Given the description of an element on the screen output the (x, y) to click on. 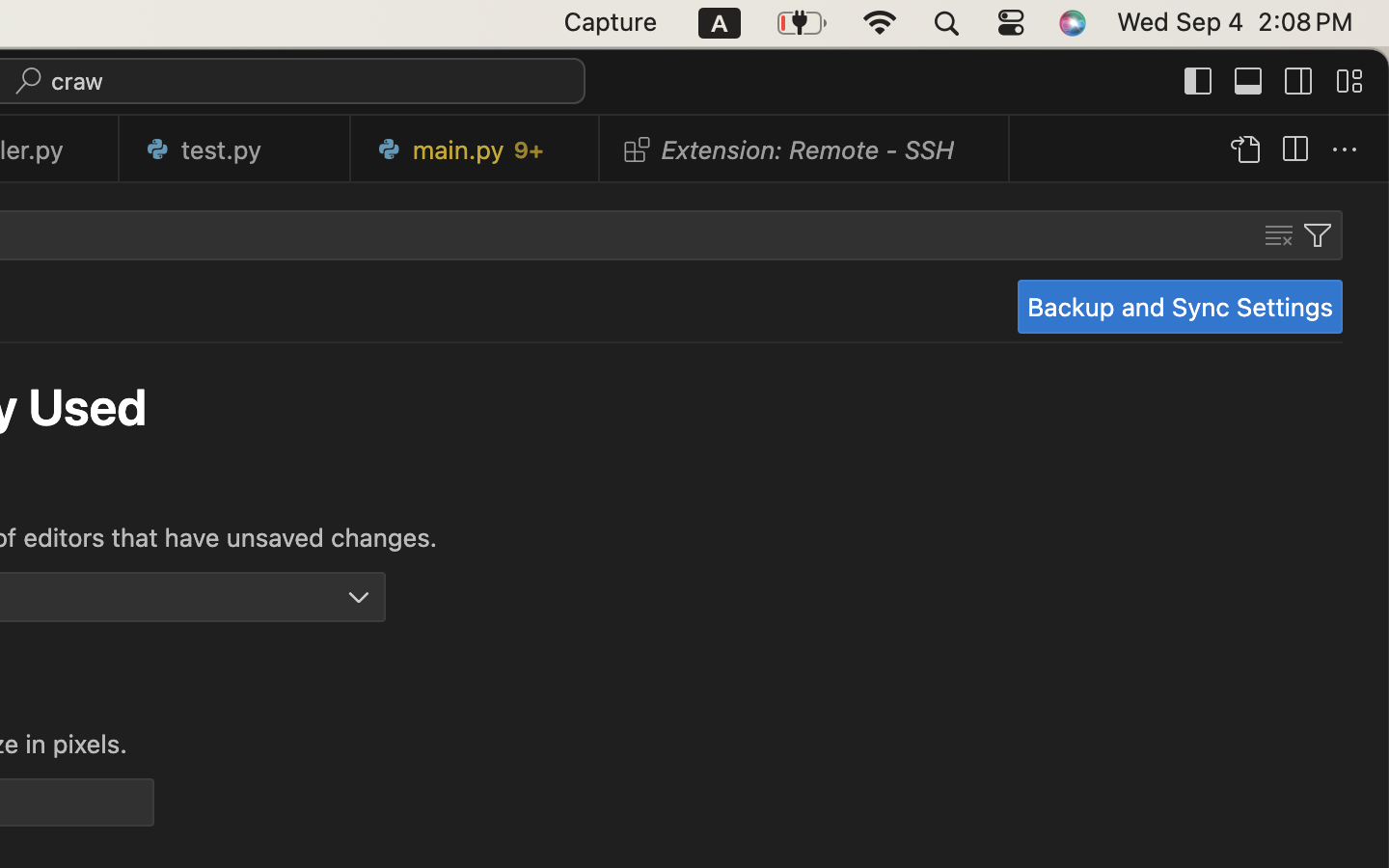
0 Extension: Remote - SSH   Element type: AXRadioButton (804, 149)
 Element type: AXButton (1278, 235)
 Element type: AXButton (1294, 150)
 Element type: AXCheckBox (1198, 80)
